Given the description of an element on the screen output the (x, y) to click on. 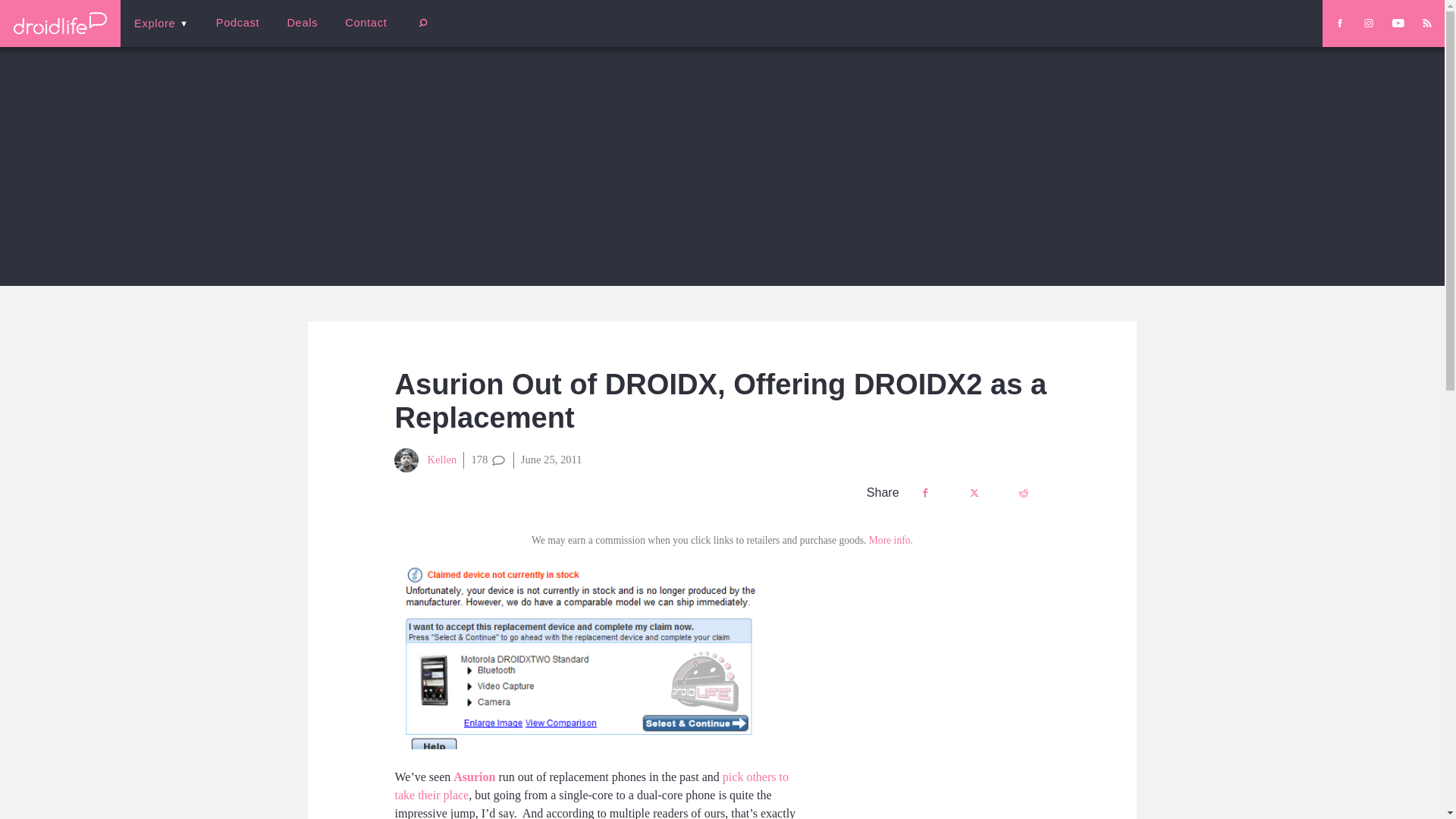
droidx2 replacement (601, 656)
Deals (302, 23)
Contact (365, 23)
Droid Life on Instagram (1368, 23)
Beginners' Guide (360, 33)
Explore (161, 23)
Droid Life RSS (1426, 23)
Kellen (425, 459)
Podcast (237, 23)
Droid Life on YouTube (1398, 23)
